Given the description of an element on the screen output the (x, y) to click on. 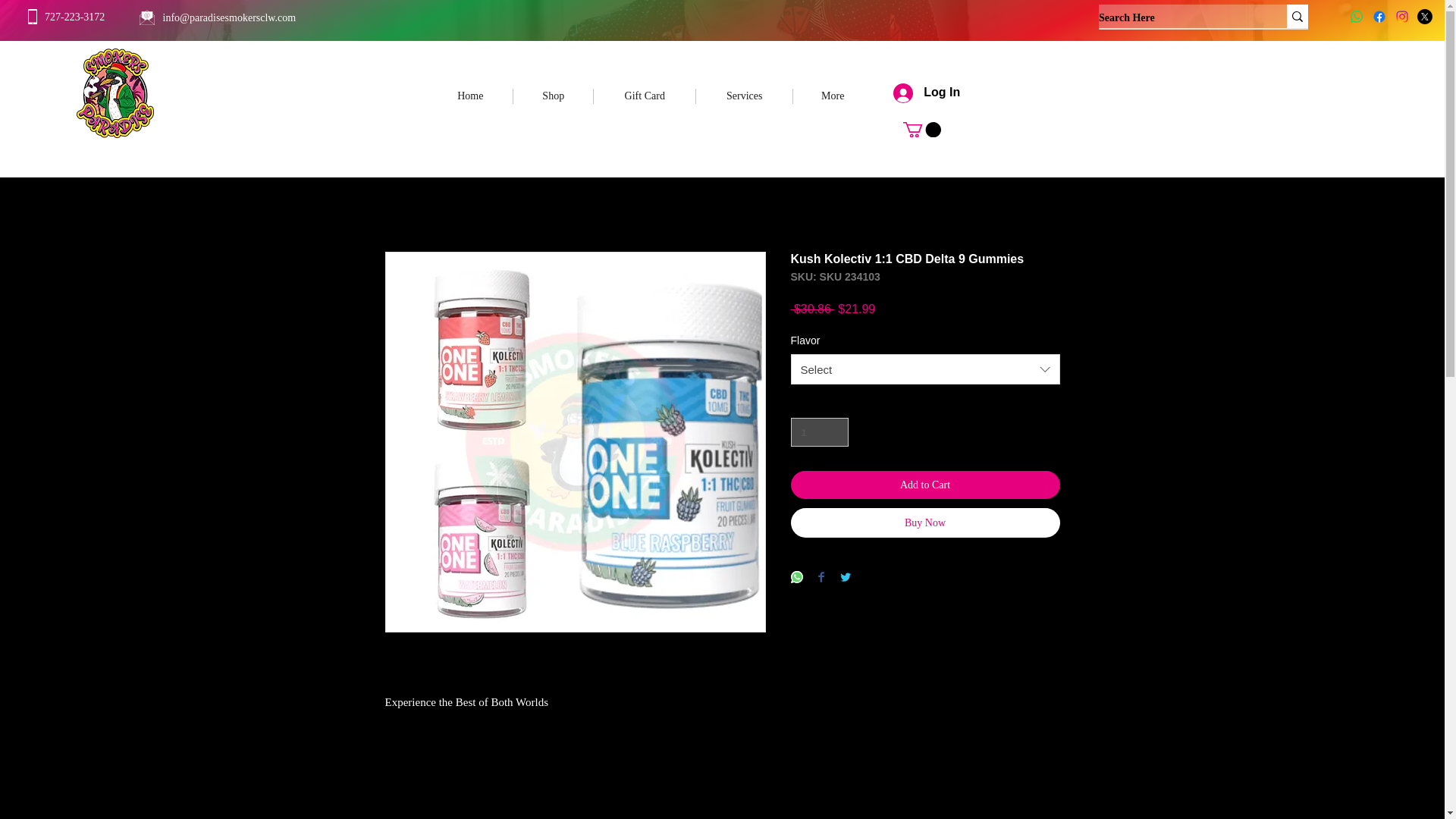
1 (818, 431)
Select (924, 368)
Buy Now (924, 522)
Add to Cart (924, 484)
Home (470, 96)
Shop (552, 96)
727-223-3172 (74, 16)
Services (743, 96)
Log In (911, 92)
Gift Card (644, 96)
